Given the description of an element on the screen output the (x, y) to click on. 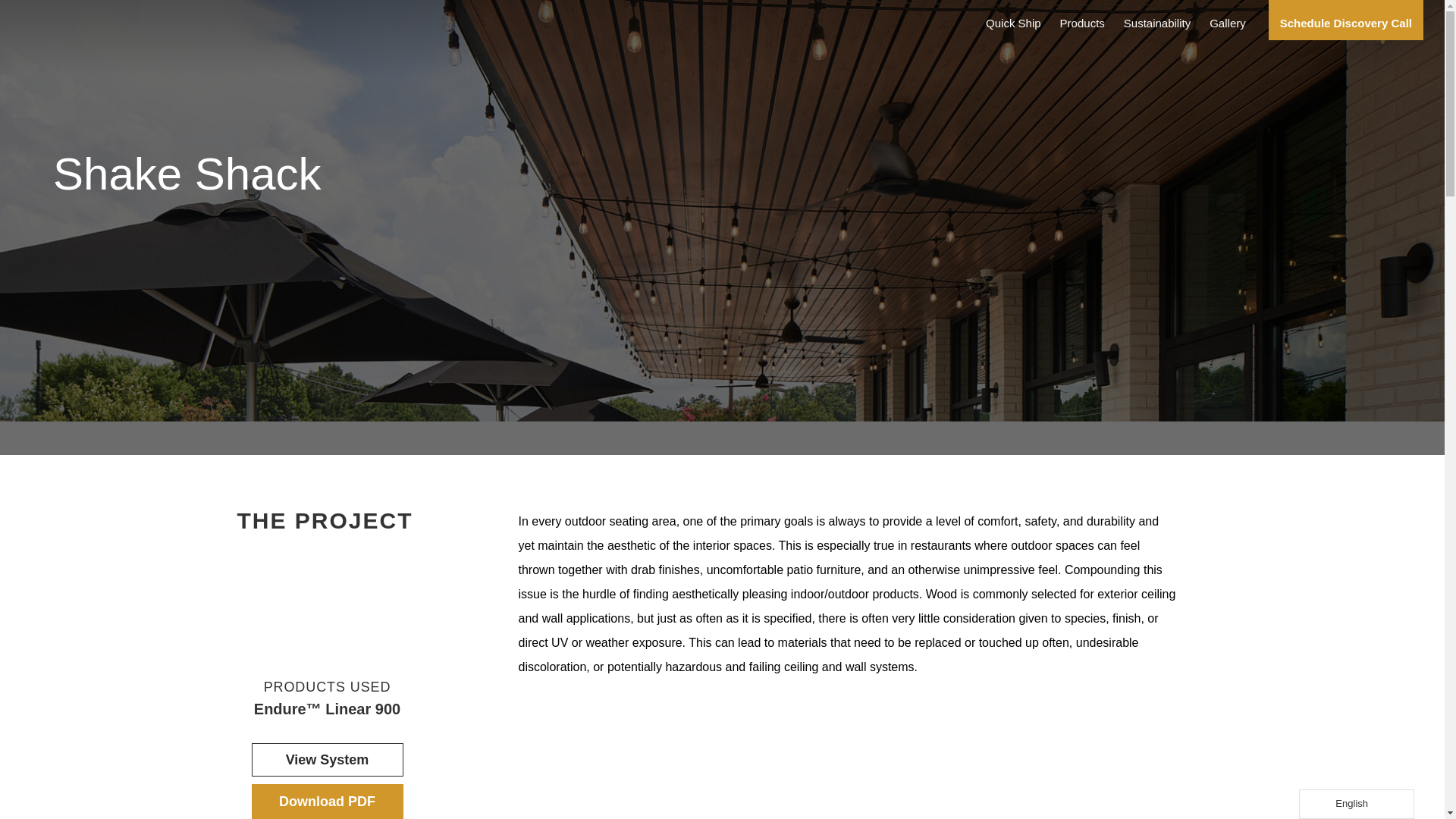
Schedule Discovery Call (1345, 20)
Products (1082, 23)
View System (327, 759)
Download PDF (327, 801)
Sustainability (1157, 23)
Quick Ship (1013, 23)
